Given the description of an element on the screen output the (x, y) to click on. 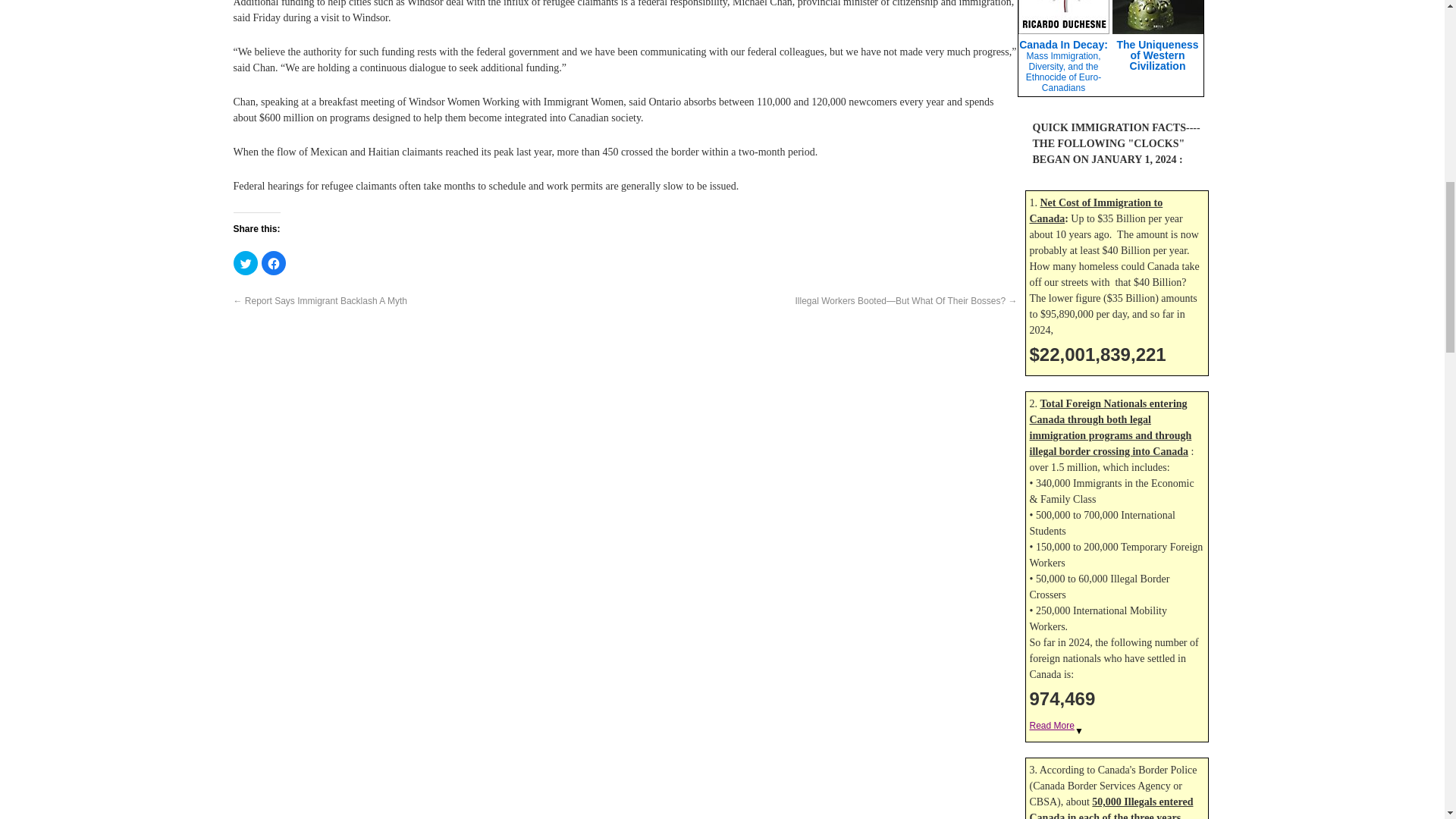
Click to share on Facebook (272, 262)
Click to share on Twitter (244, 262)
